Given the description of an element on the screen output the (x, y) to click on. 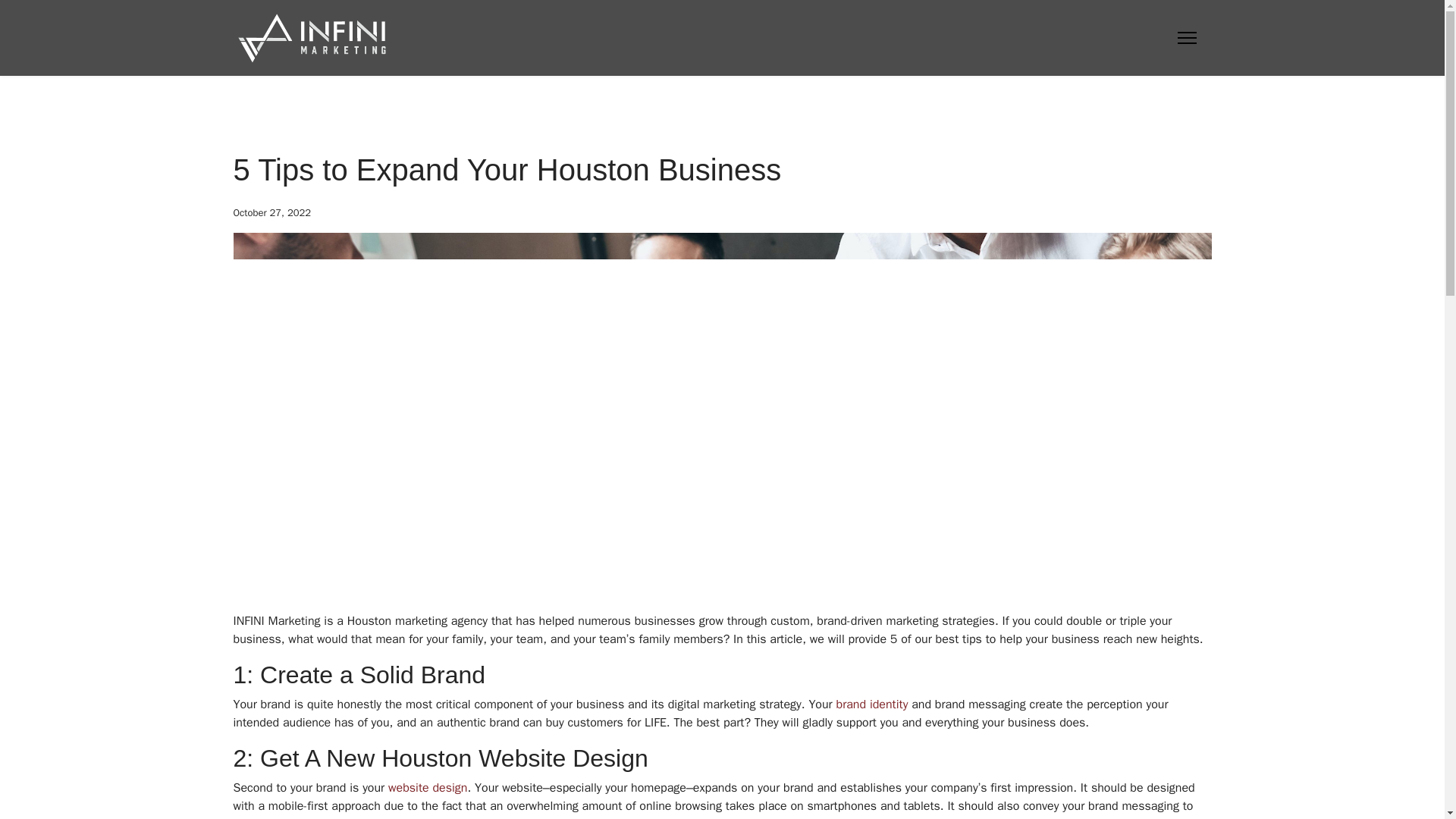
website design (427, 787)
Published: October 27, 2022 (271, 212)
brand identity (871, 703)
